Given the description of an element on the screen output the (x, y) to click on. 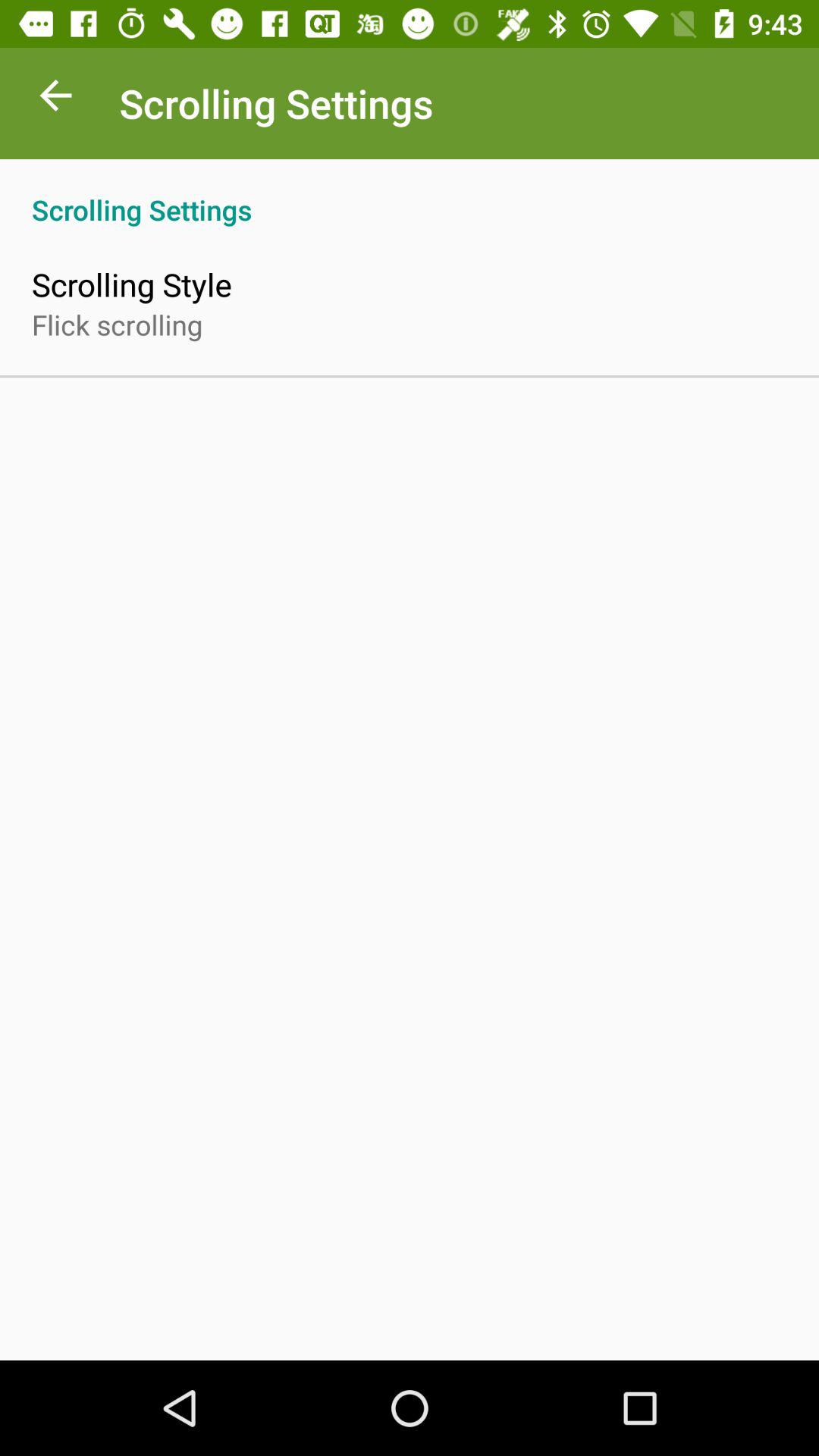
go back (55, 99)
